Given the description of an element on the screen output the (x, y) to click on. 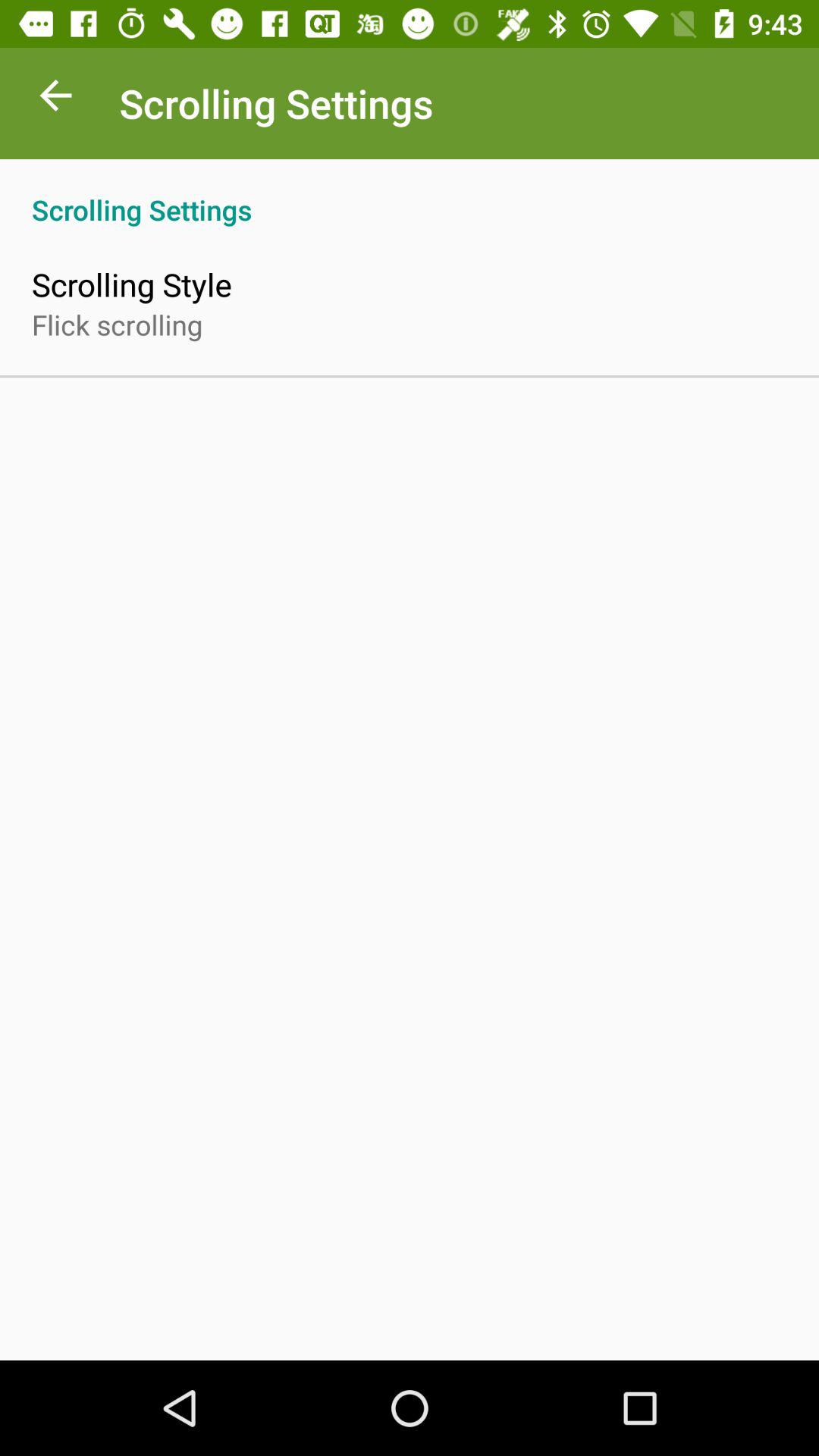
go back (55, 99)
